Given the description of an element on the screen output the (x, y) to click on. 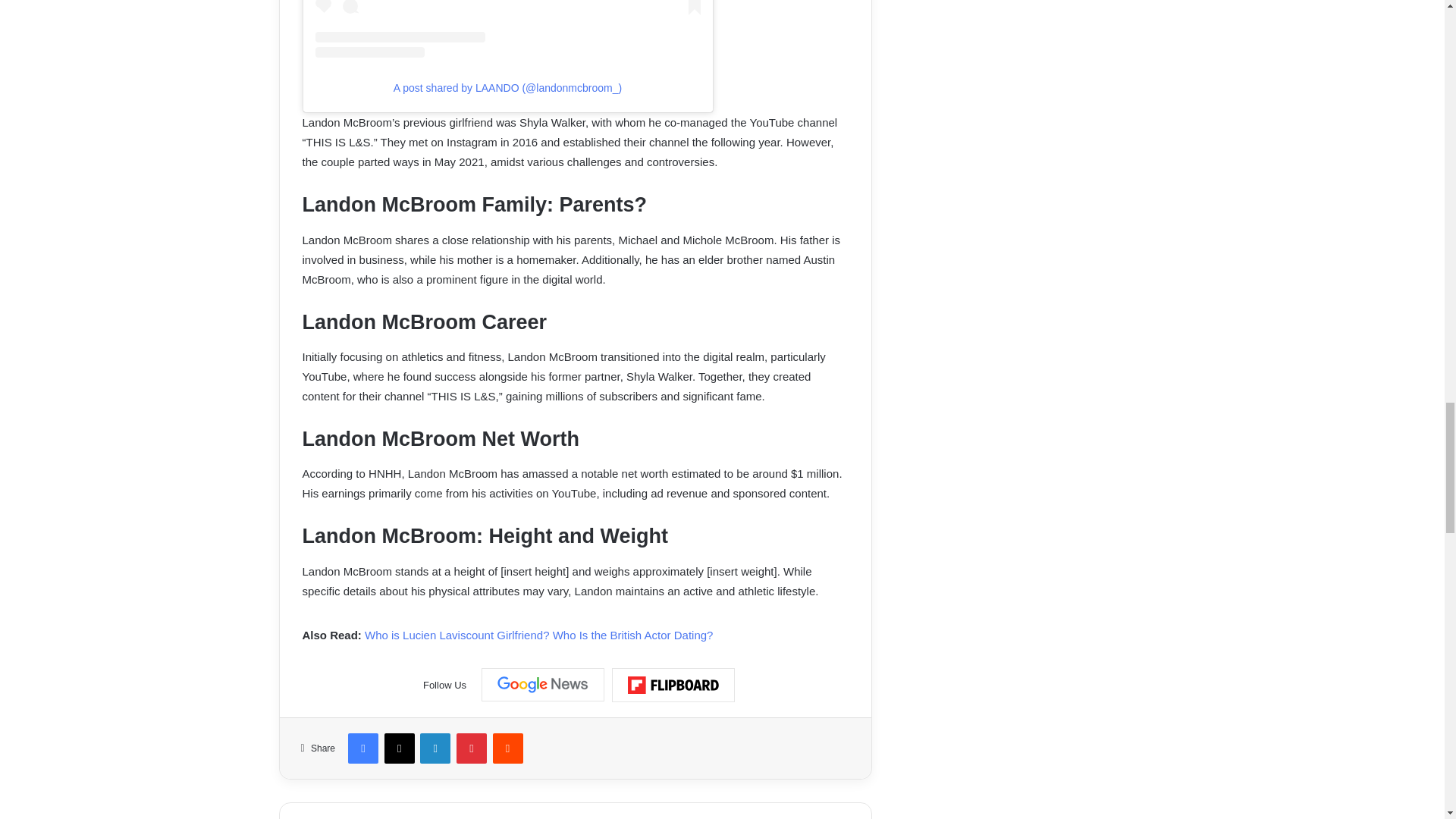
View this post on Instagram (507, 29)
